Given the description of an element on the screen output the (x, y) to click on. 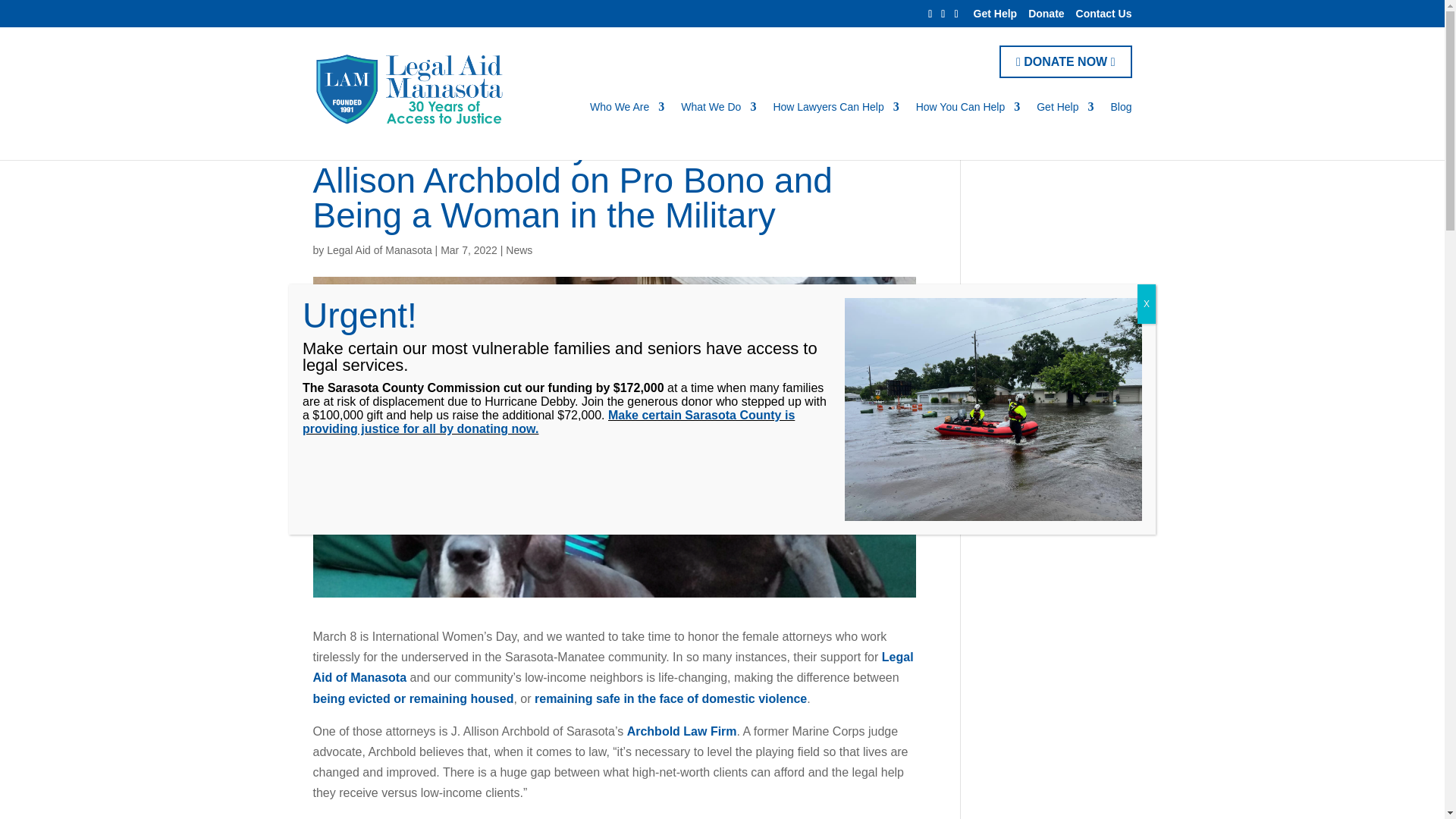
Contact Us (1103, 16)
How Lawyers Can Help (835, 130)
Who We Are (626, 130)
Get Help (1064, 130)
What We Do (718, 130)
DONATE NOW (1065, 61)
Posts by Legal Aid of Manasota (379, 250)
Donate (1045, 16)
Get Help (995, 16)
How You Can Help (967, 130)
